Given the description of an element on the screen output the (x, y) to click on. 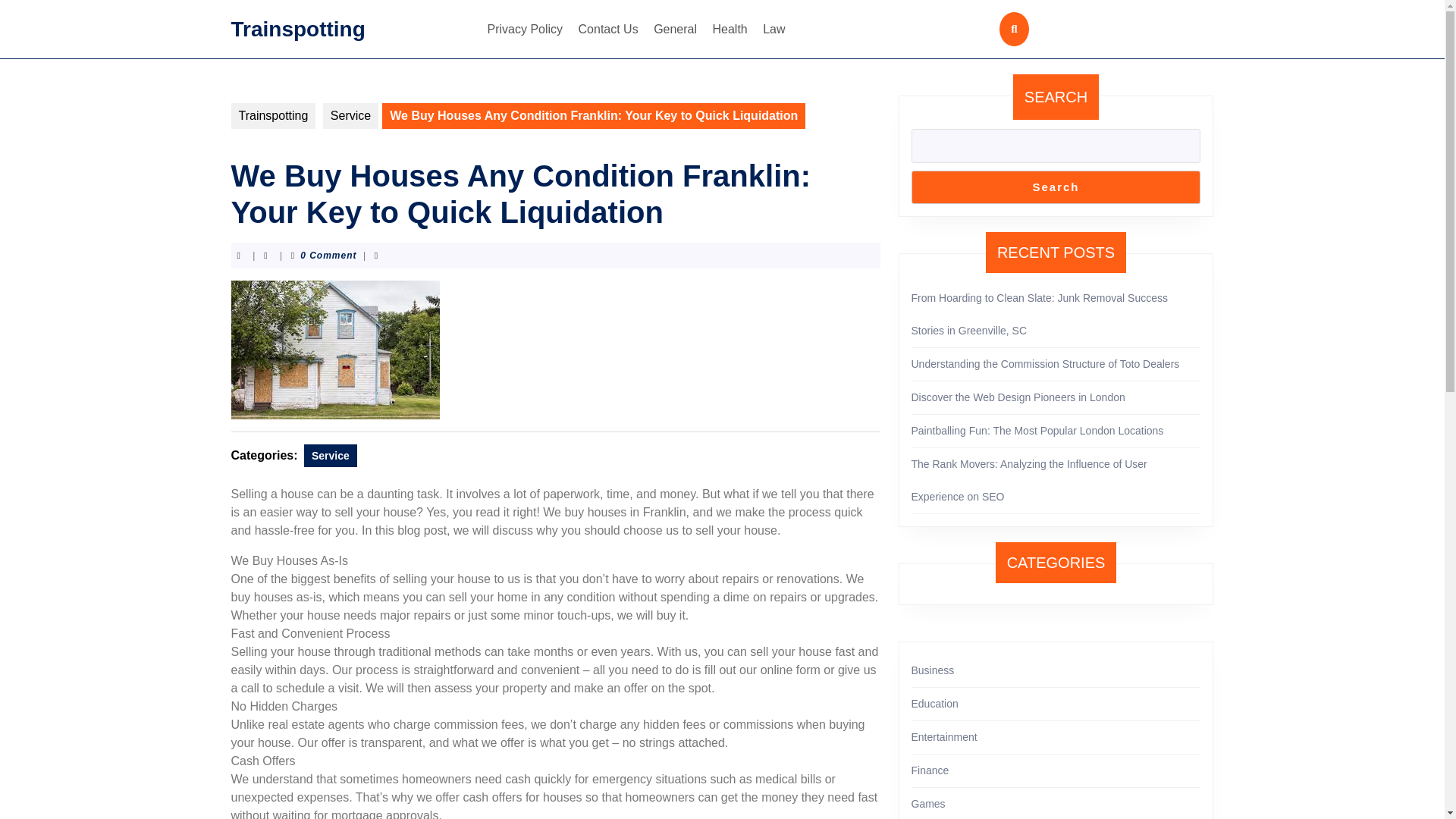
Understanding the Commission Structure of Toto Dealers (1045, 363)
Contact Us (608, 28)
Education (934, 703)
Trainspotting (297, 28)
Privacy Policy (524, 28)
Discover the Web Design Pioneers in London (1018, 397)
Business (933, 670)
Service (330, 455)
Search (1056, 186)
General (675, 28)
